Given the description of an element on the screen output the (x, y) to click on. 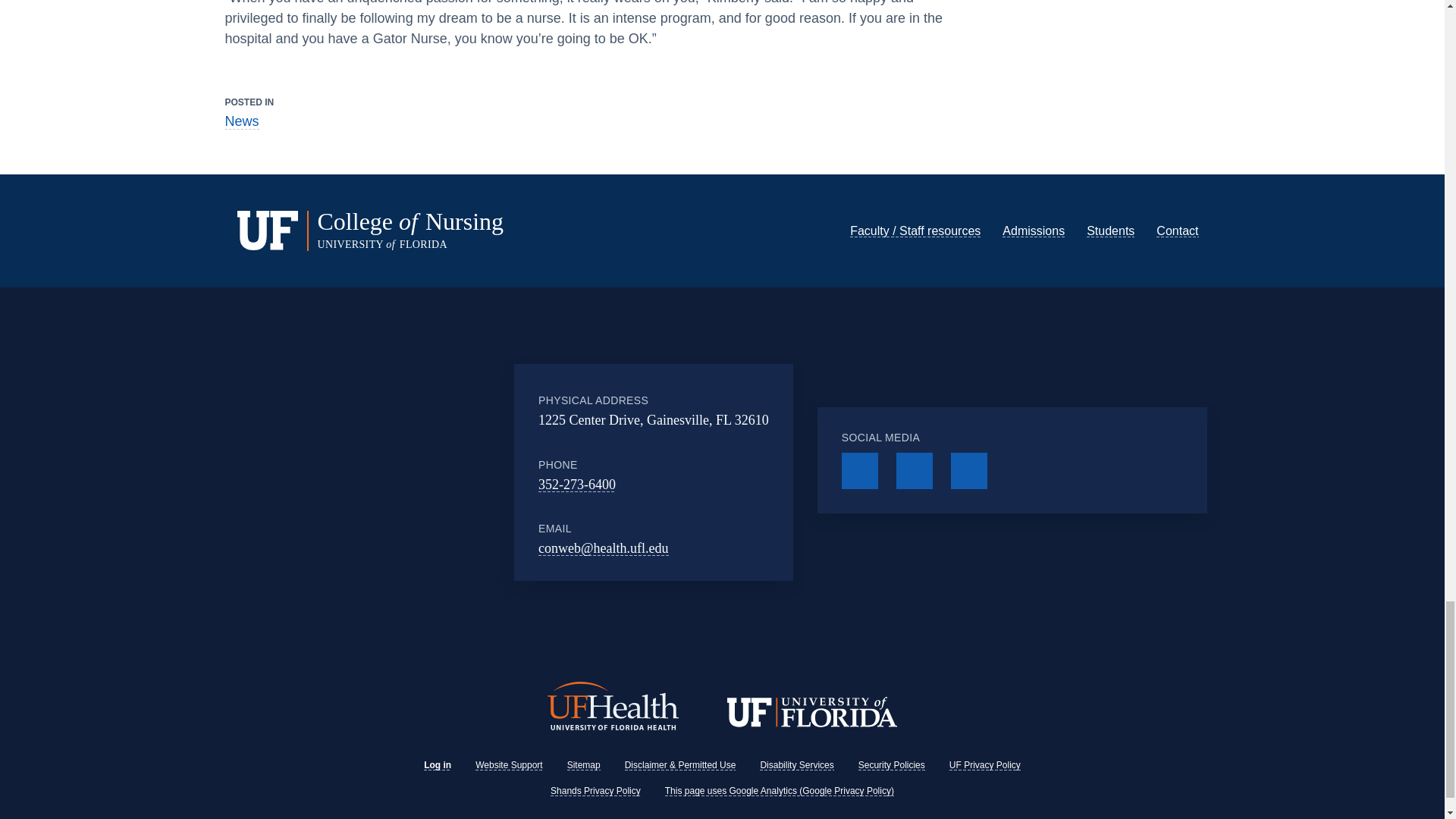
Log in (437, 765)
Admissions (1033, 230)
Disability Services (796, 765)
352-273-6400 (576, 484)
Sitemap (583, 765)
Students (1110, 230)
Google Maps Embed (423, 472)
UF Privacy Policy (984, 765)
Contact (1177, 230)
Shands Privacy Policy (595, 790)
Website Support (509, 765)
Security Policies (891, 765)
